Given the description of an element on the screen output the (x, y) to click on. 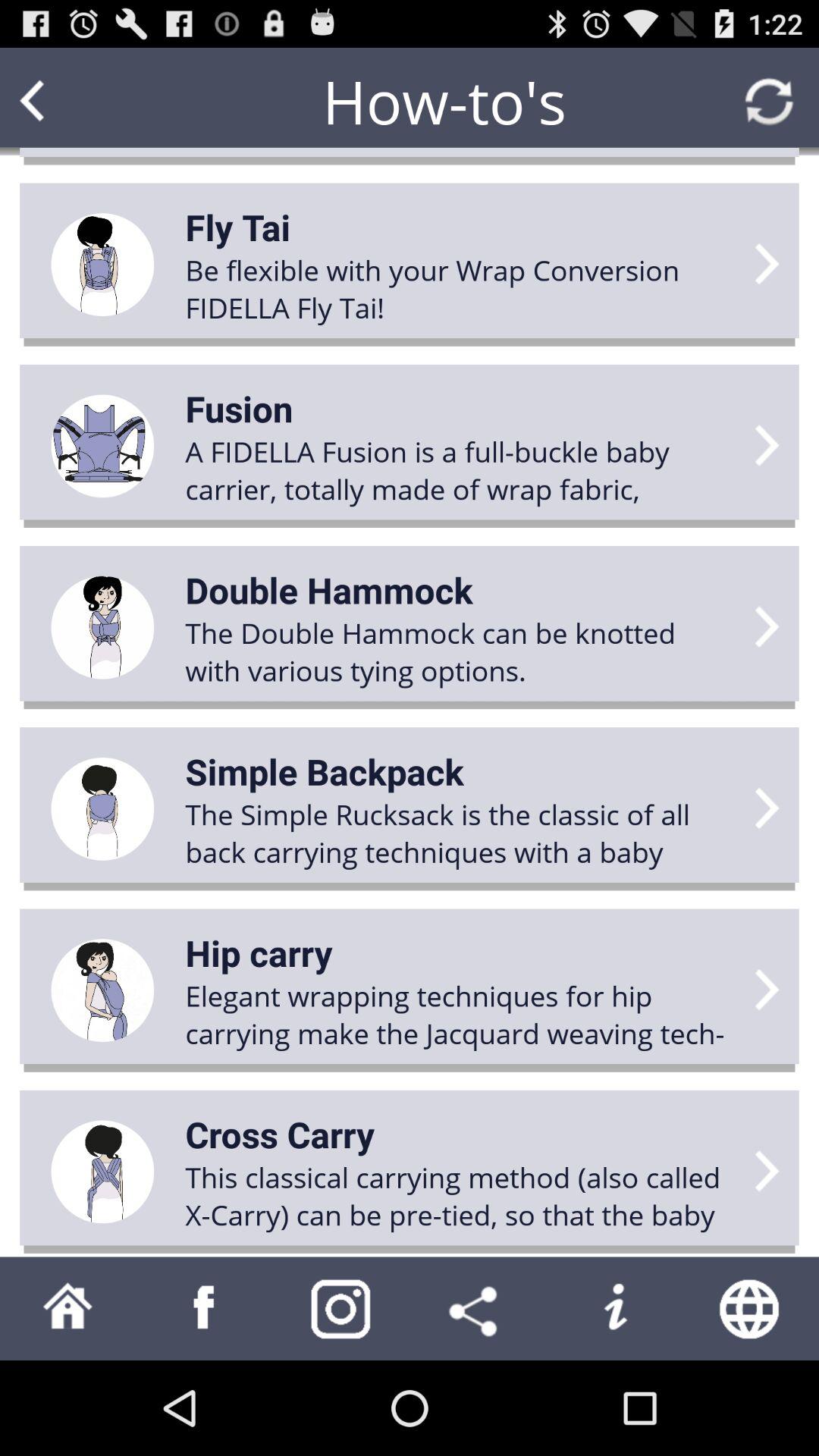
flip until the the simple rucksack item (460, 832)
